Given the description of an element on the screen output the (x, y) to click on. 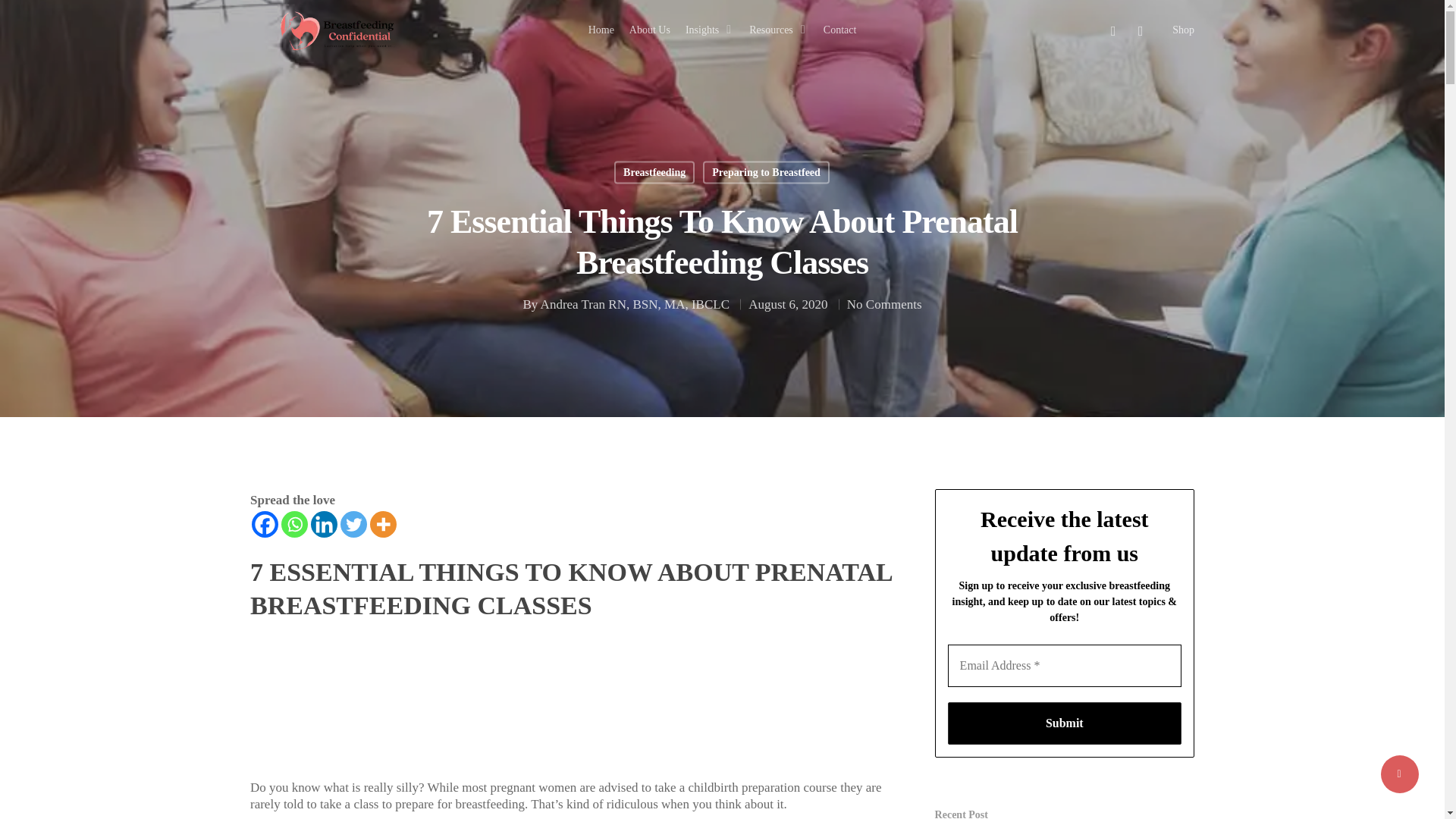
Breastfeeding (654, 171)
Submit (1063, 722)
Andrea Tran RN, BSN, MA, IBCLC (634, 304)
More (382, 524)
No Comments (884, 304)
Whatsapp (294, 524)
Contact (840, 29)
About Us (648, 29)
Preparing to Breastfeed (766, 171)
Posts by Andrea Tran RN, BSN, MA, IBCLC (634, 304)
Twitter (353, 524)
Email Address (1063, 665)
Facebook (264, 524)
Resources (778, 29)
Shop (1182, 29)
